Given the description of an element on the screen output the (x, y) to click on. 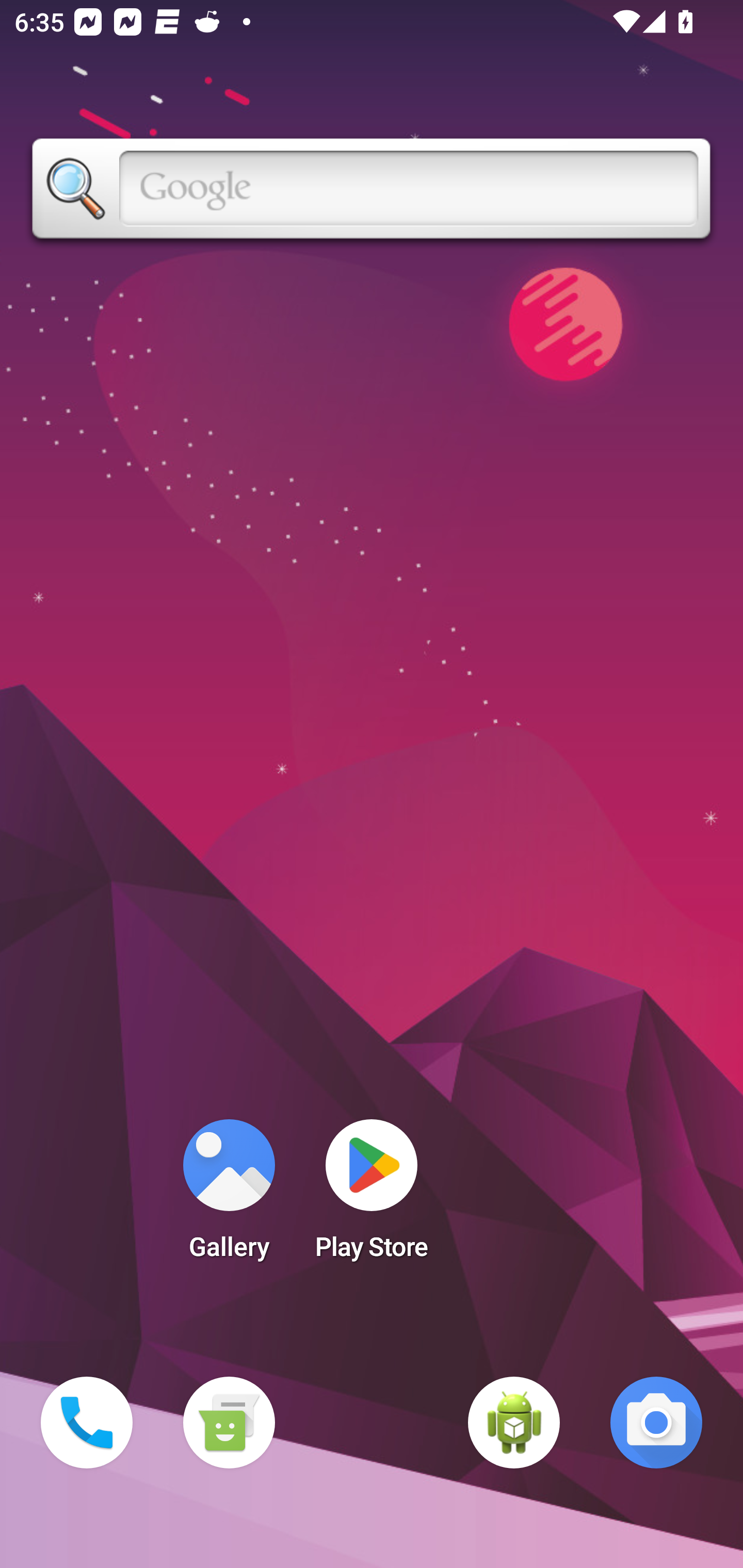
Gallery (228, 1195)
Play Store (371, 1195)
Phone (86, 1422)
Messaging (228, 1422)
WebView Browser Tester (513, 1422)
Camera (656, 1422)
